Given the description of an element on the screen output the (x, y) to click on. 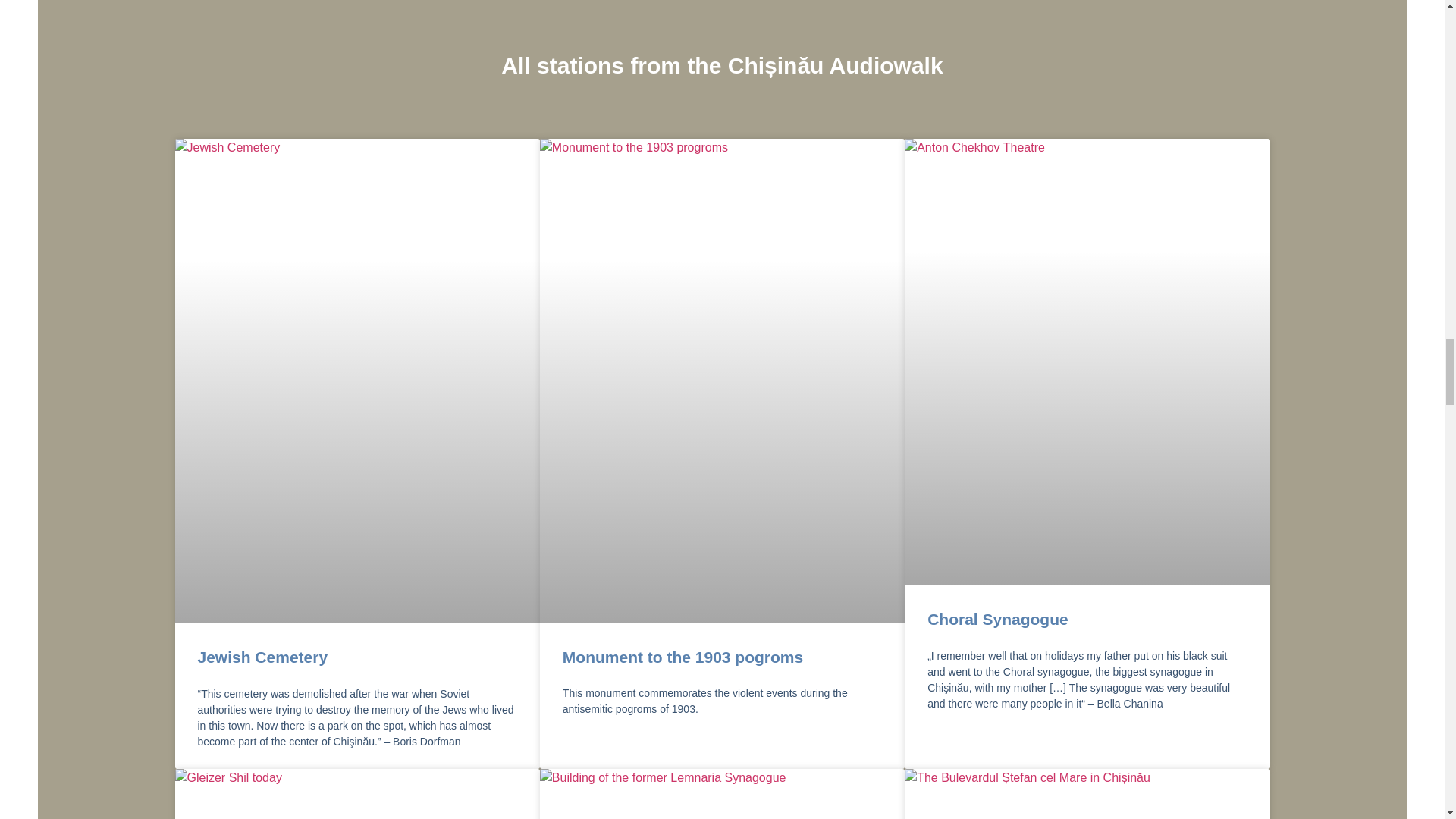
Jewish Cemetery (261, 656)
Monument to the 1903 pogroms (682, 656)
Choral Synagogue (997, 619)
